Given the description of an element on the screen output the (x, y) to click on. 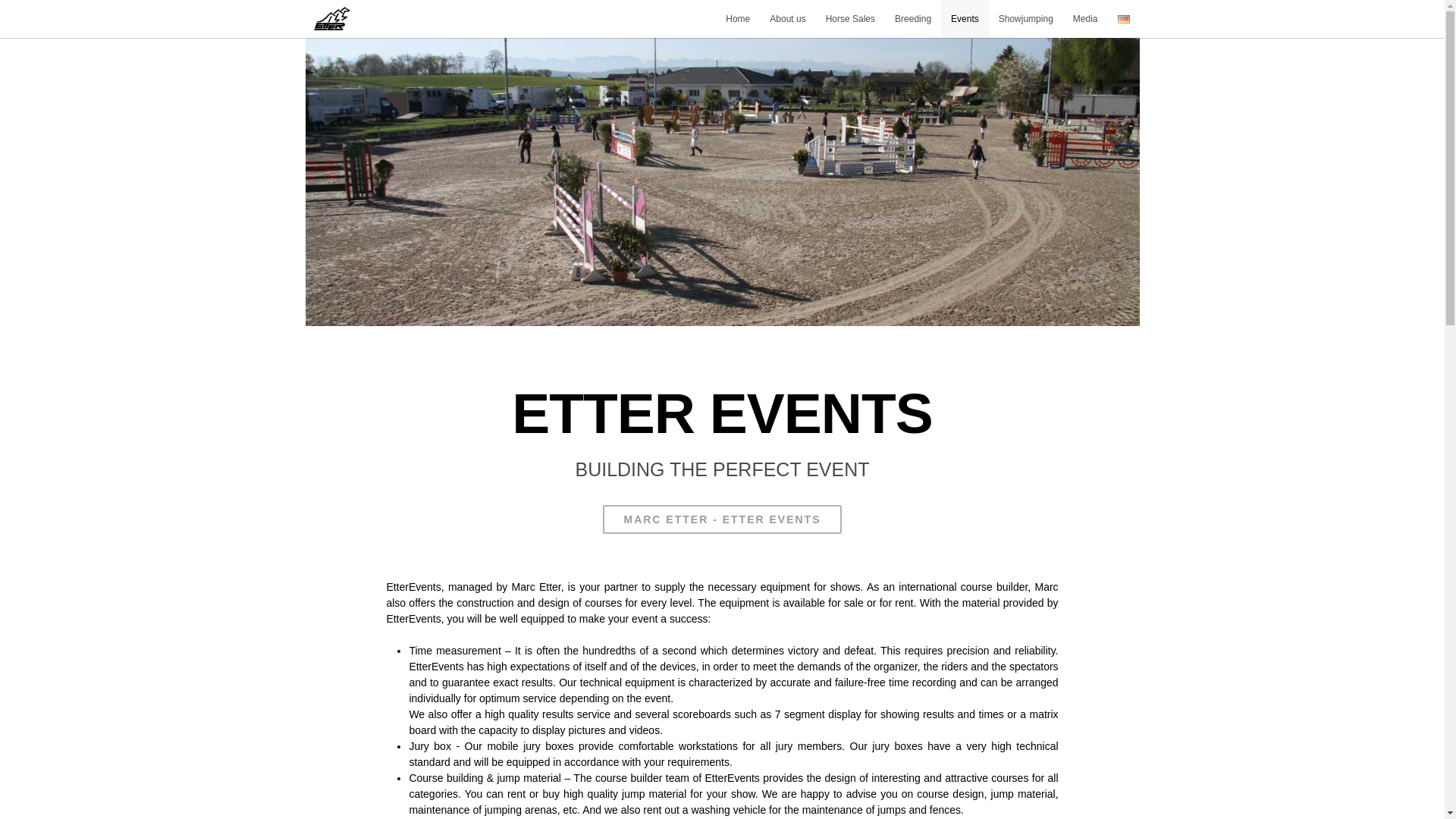
Showjumping (1025, 18)
Home (738, 18)
Etterhorses (331, 18)
Breeding (912, 18)
Media (1085, 18)
Horse Sales (850, 18)
Events (964, 18)
About us (787, 18)
MARC ETTER - ETTER EVENTS (721, 519)
